Given the description of an element on the screen output the (x, y) to click on. 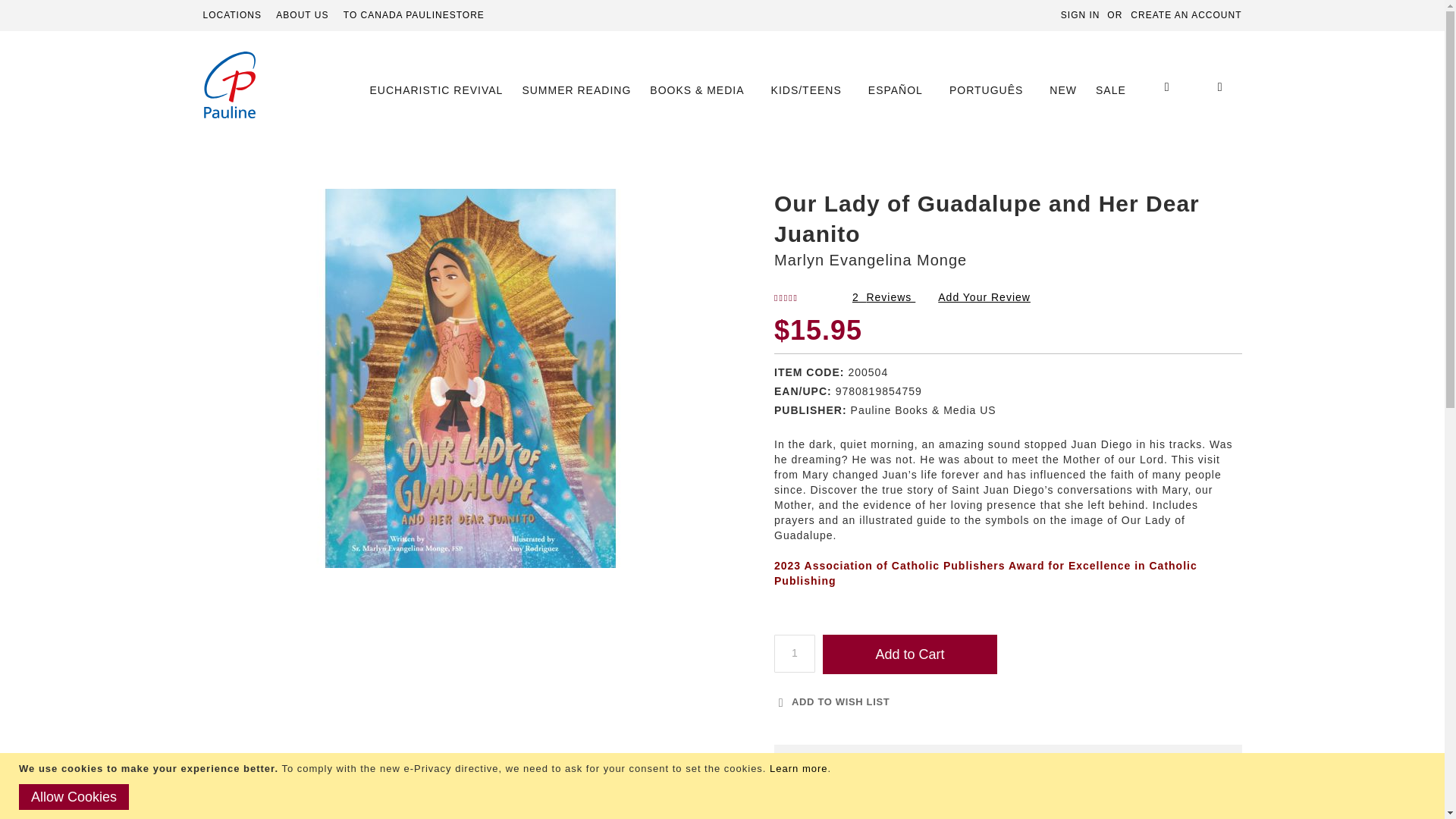
CREATE AN ACCOUNT (1186, 15)
Allow Cookies (73, 796)
1 (794, 653)
EUCHARISTIC REVIVAL (440, 90)
Pauline Media Locations (232, 14)
SIGN IN (1080, 15)
SUMMER READING (576, 90)
TO CANADA PAULINESTORE (413, 14)
Add to Cart (909, 654)
Qty (794, 653)
ABOUT US (302, 14)
LOCATIONS (232, 14)
Learn more (798, 767)
